Given the description of an element on the screen output the (x, y) to click on. 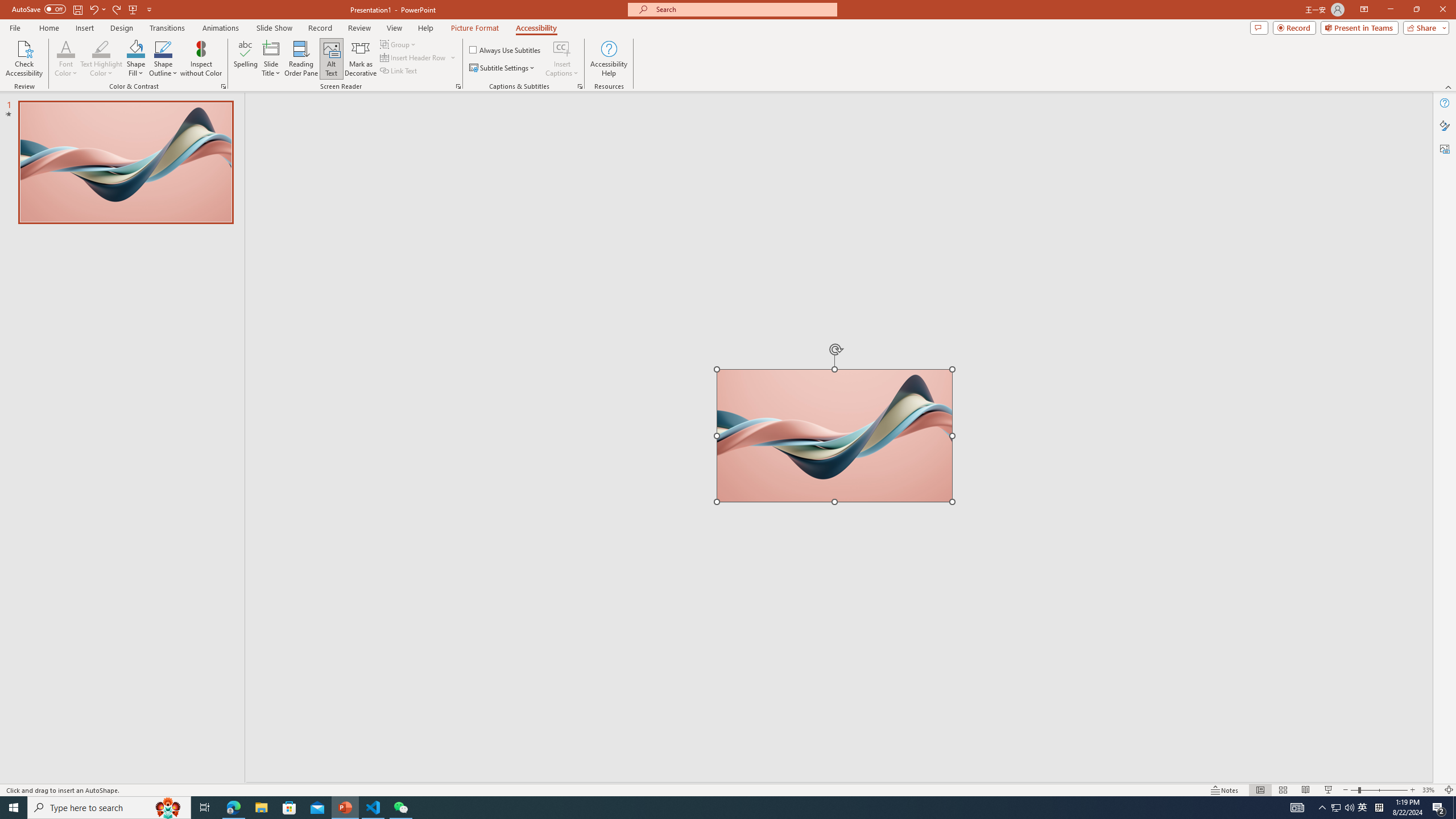
Accessibility Help (608, 58)
Link Text (399, 69)
Mark as Decorative (360, 58)
Always Use Subtitles (505, 49)
